Given the description of an element on the screen output the (x, y) to click on. 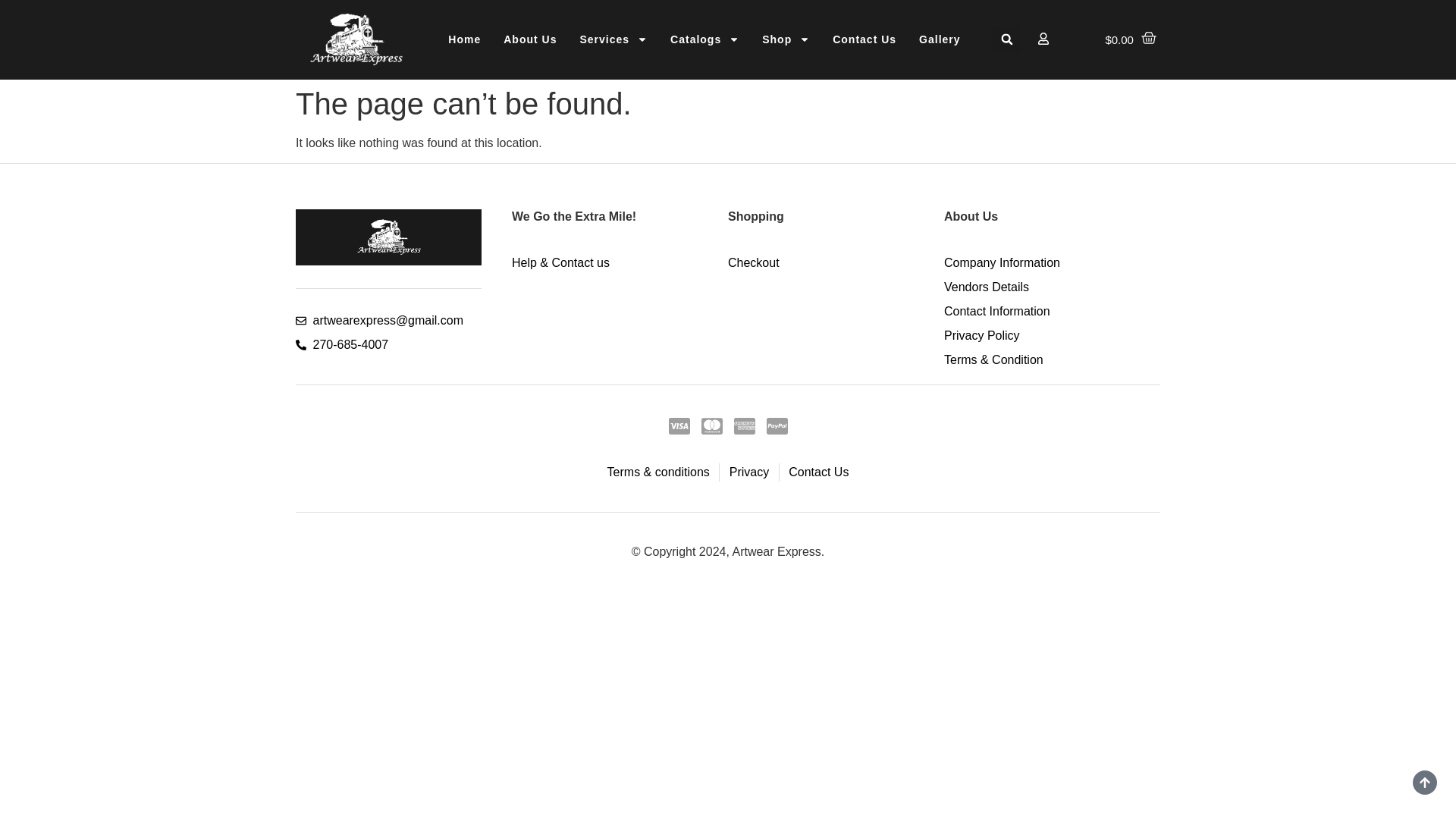
Contact Us (864, 39)
Home (464, 39)
Gallery (939, 39)
Shop (786, 39)
Services (613, 39)
Catalogs (705, 39)
About Us (529, 39)
